Given the description of an element on the screen output the (x, y) to click on. 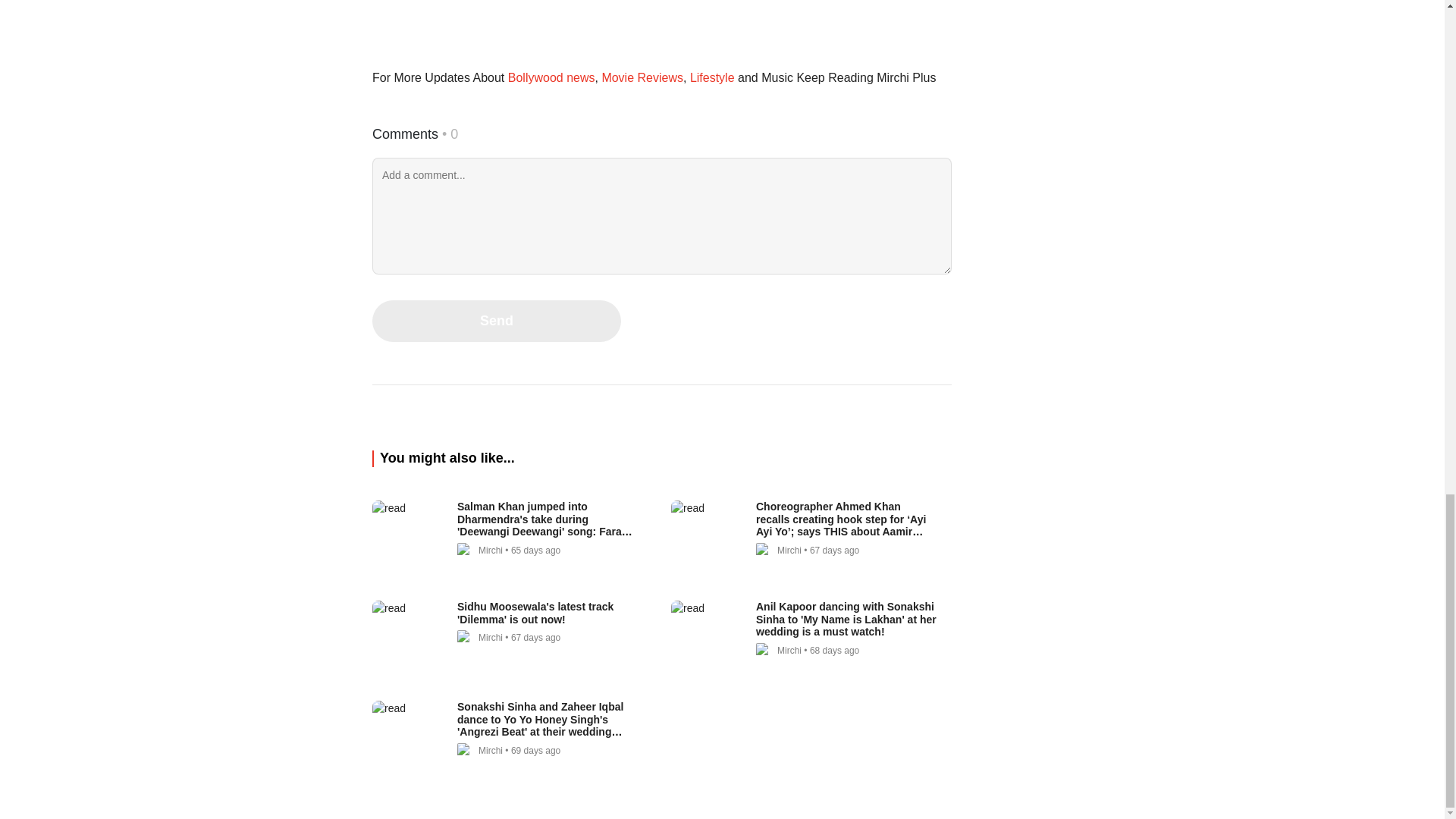
Bollywood news (550, 77)
Movie Reviews (641, 77)
Lifestyle (710, 77)
